Given the description of an element on the screen output the (x, y) to click on. 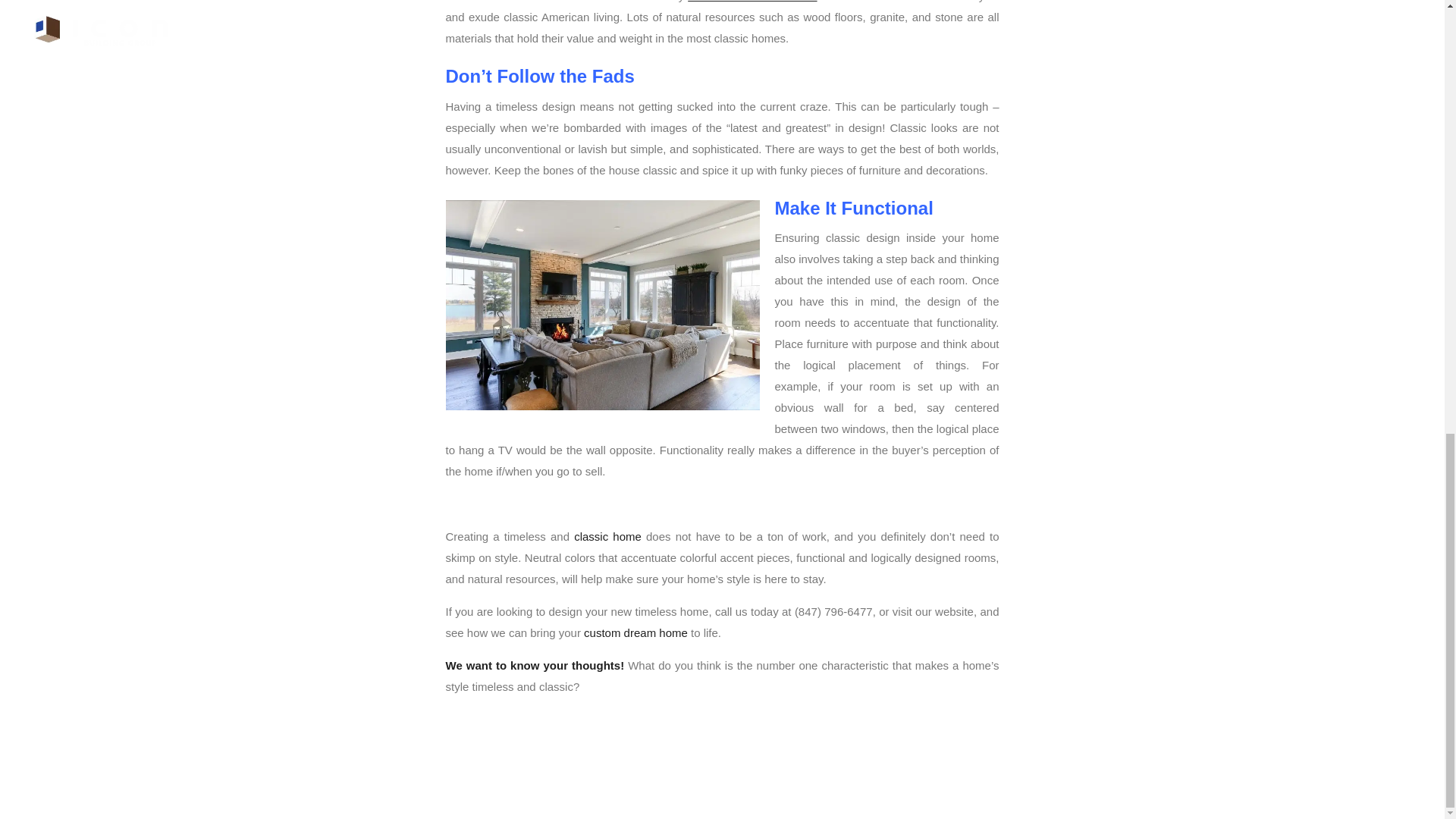
classic home (607, 535)
Hawthorn Trails Phase 3 (751, 1)
custom dream home (635, 632)
